Given the description of an element on the screen output the (x, y) to click on. 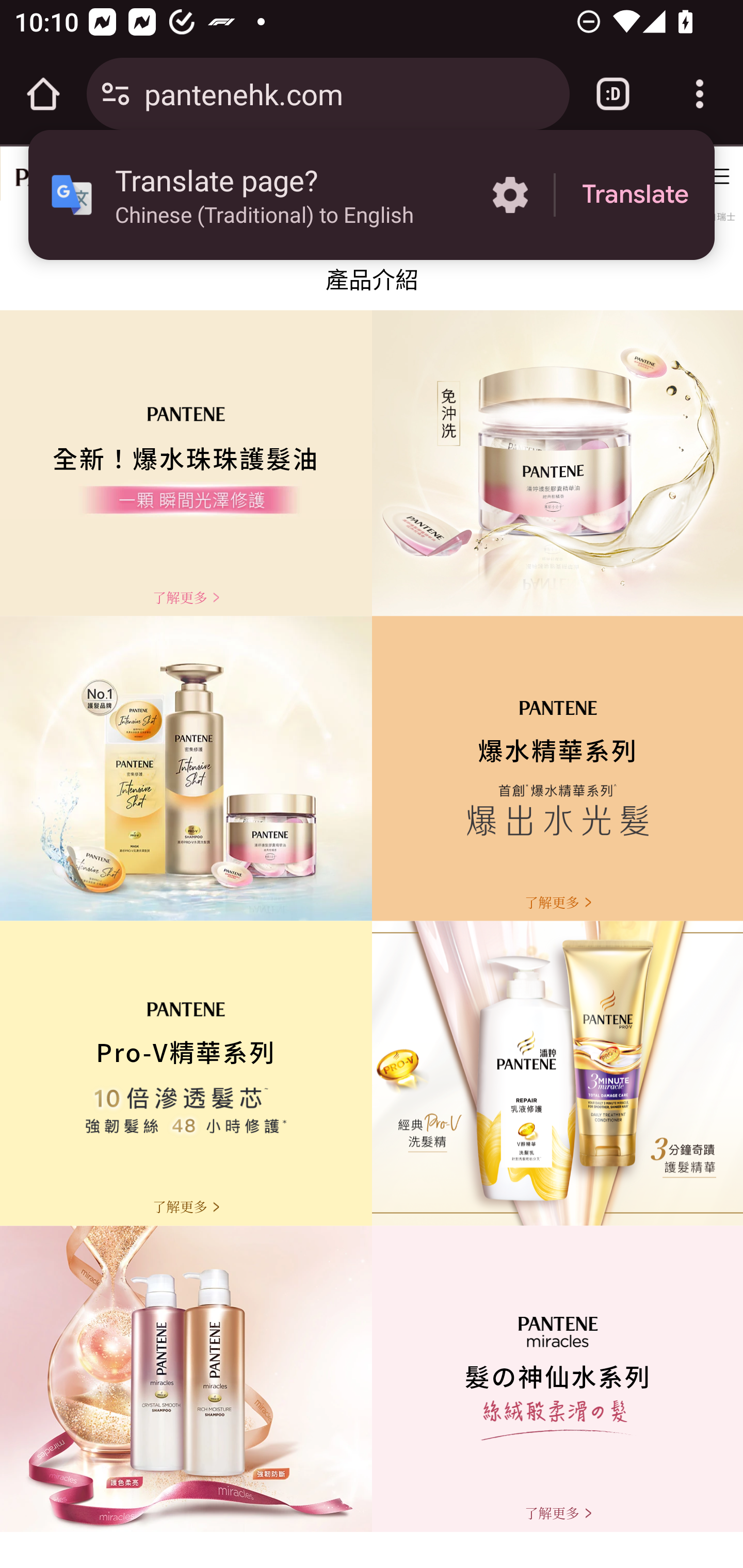
Open the home page (43, 93)
Connection is secure (115, 93)
Switch or close tabs (612, 93)
Customize and control Google Chrome (699, 93)
pantenehk.com (349, 92)
Translate (634, 195)
More options in the Translate page? (509, 195)
爆水珠珠髮油 (371, 272)
了解更多 (186, 597)
了解更多 (557, 901)
了解更多 (186, 1207)
了解更多 (557, 1513)
